Given the description of an element on the screen output the (x, y) to click on. 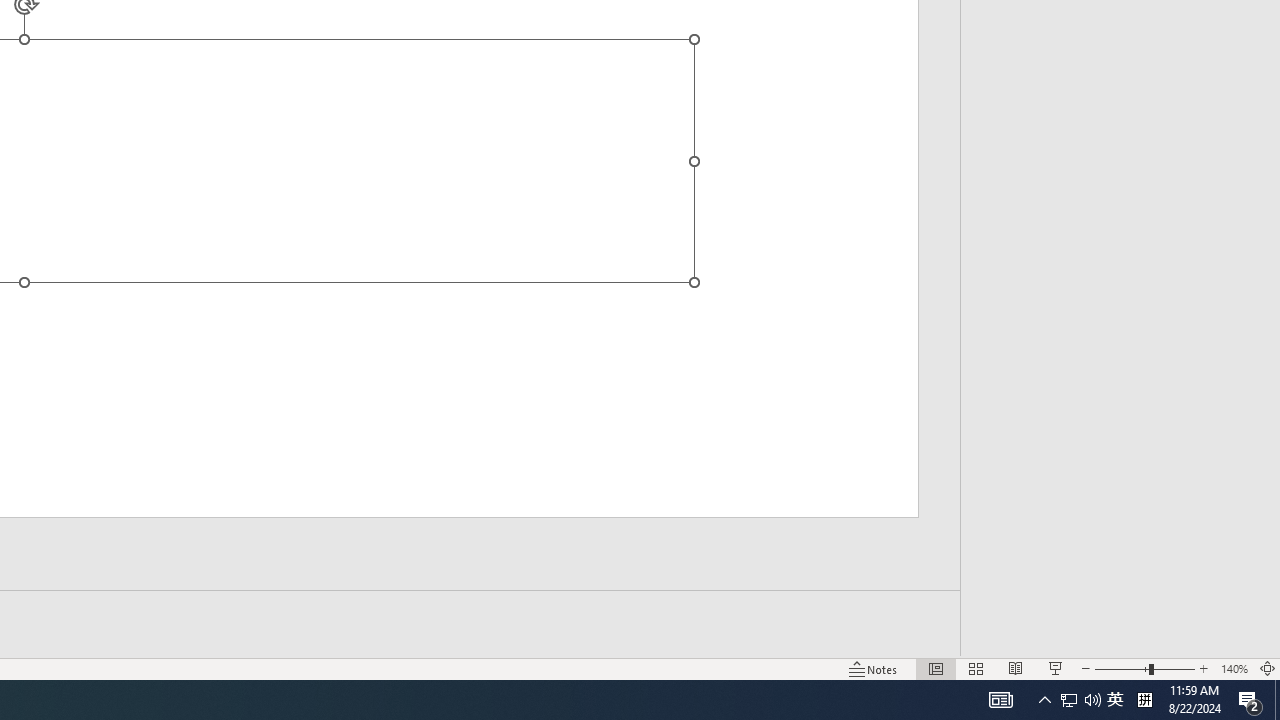
Zoom 140% (1234, 668)
